Given the description of an element on the screen output the (x, y) to click on. 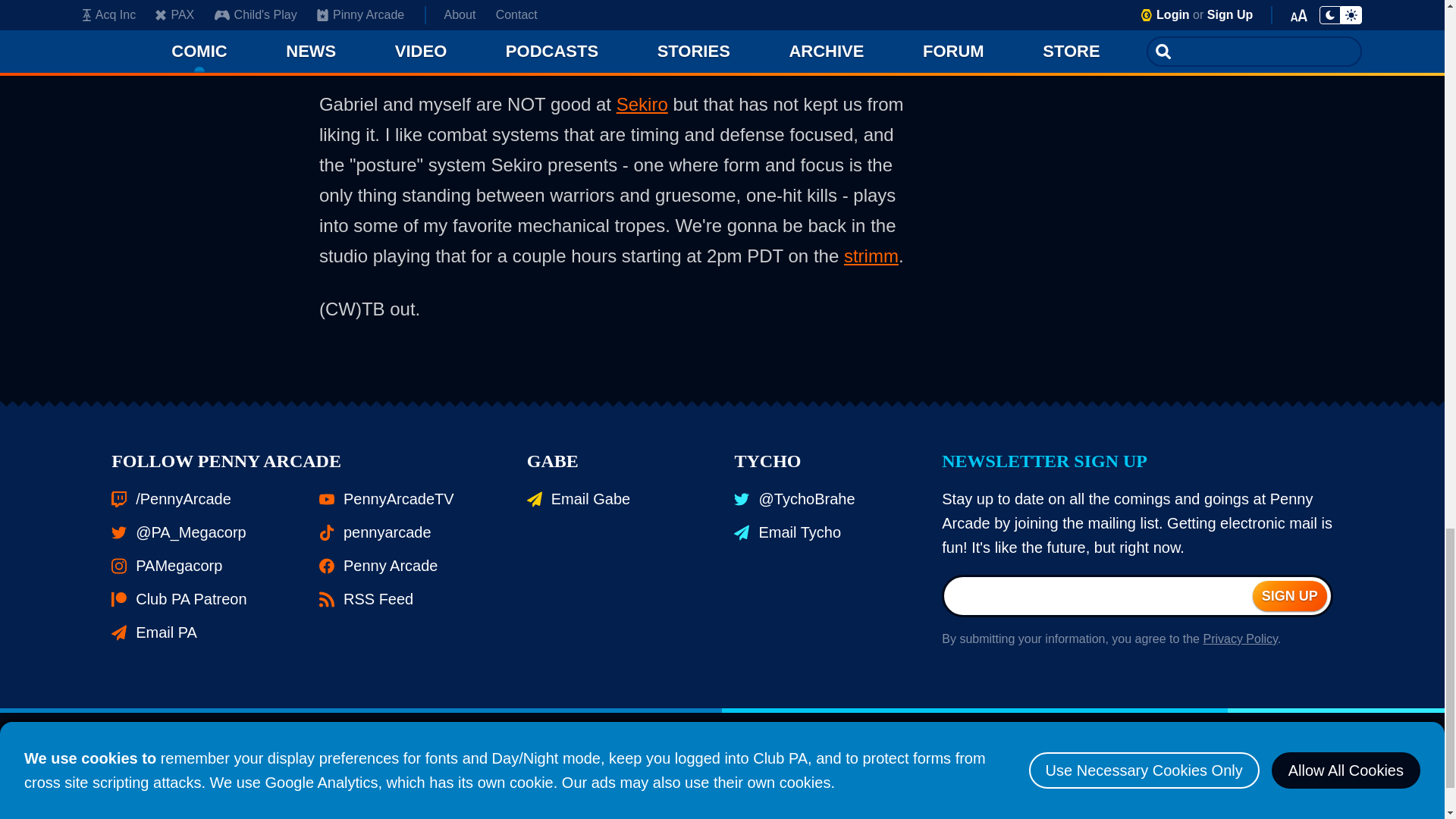
Sign Up (1289, 595)
